Given the description of an element on the screen output the (x, y) to click on. 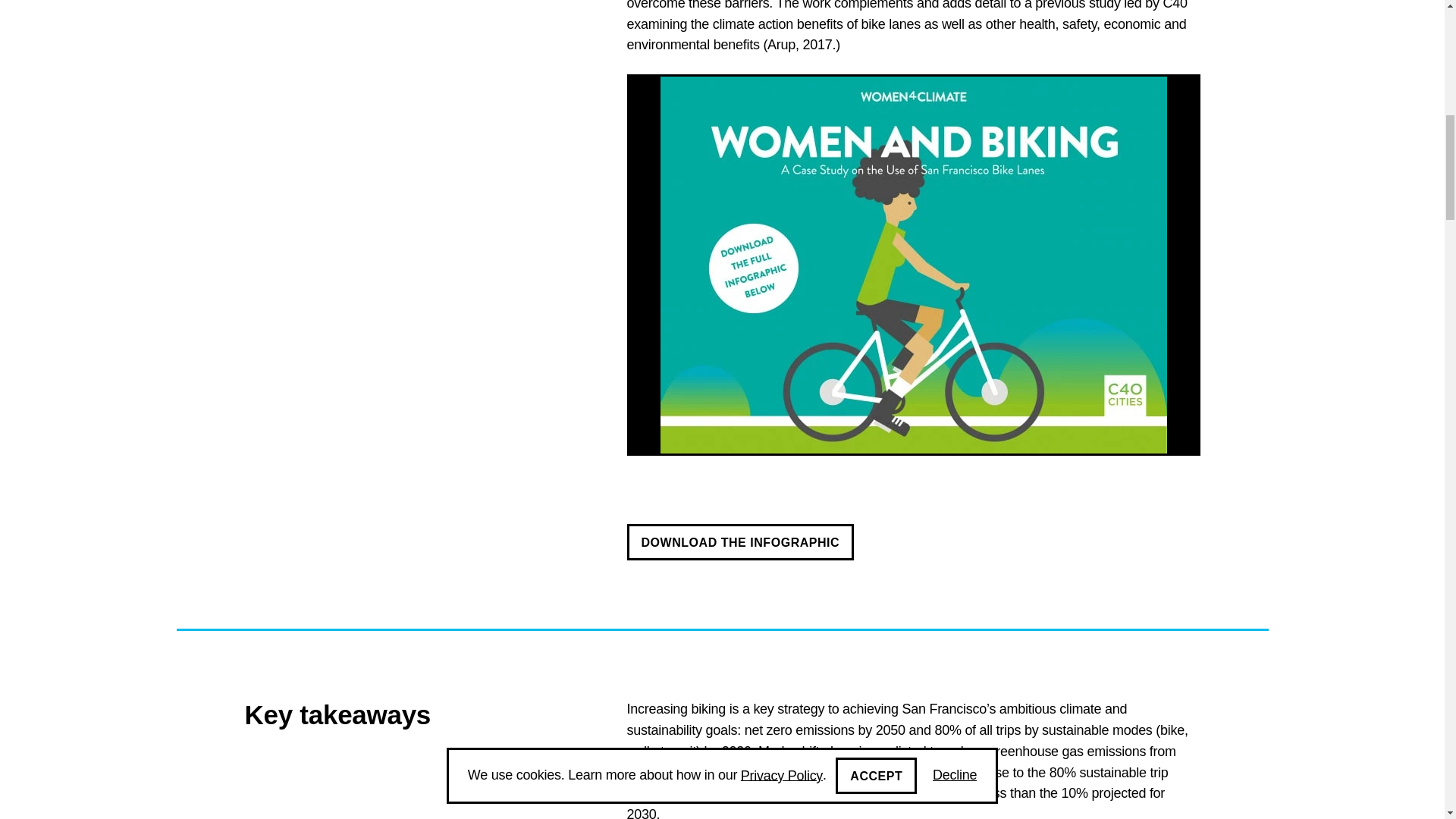
DOWNLOAD THE INFOGRAPHIC (739, 542)
